Given the description of an element on the screen output the (x, y) to click on. 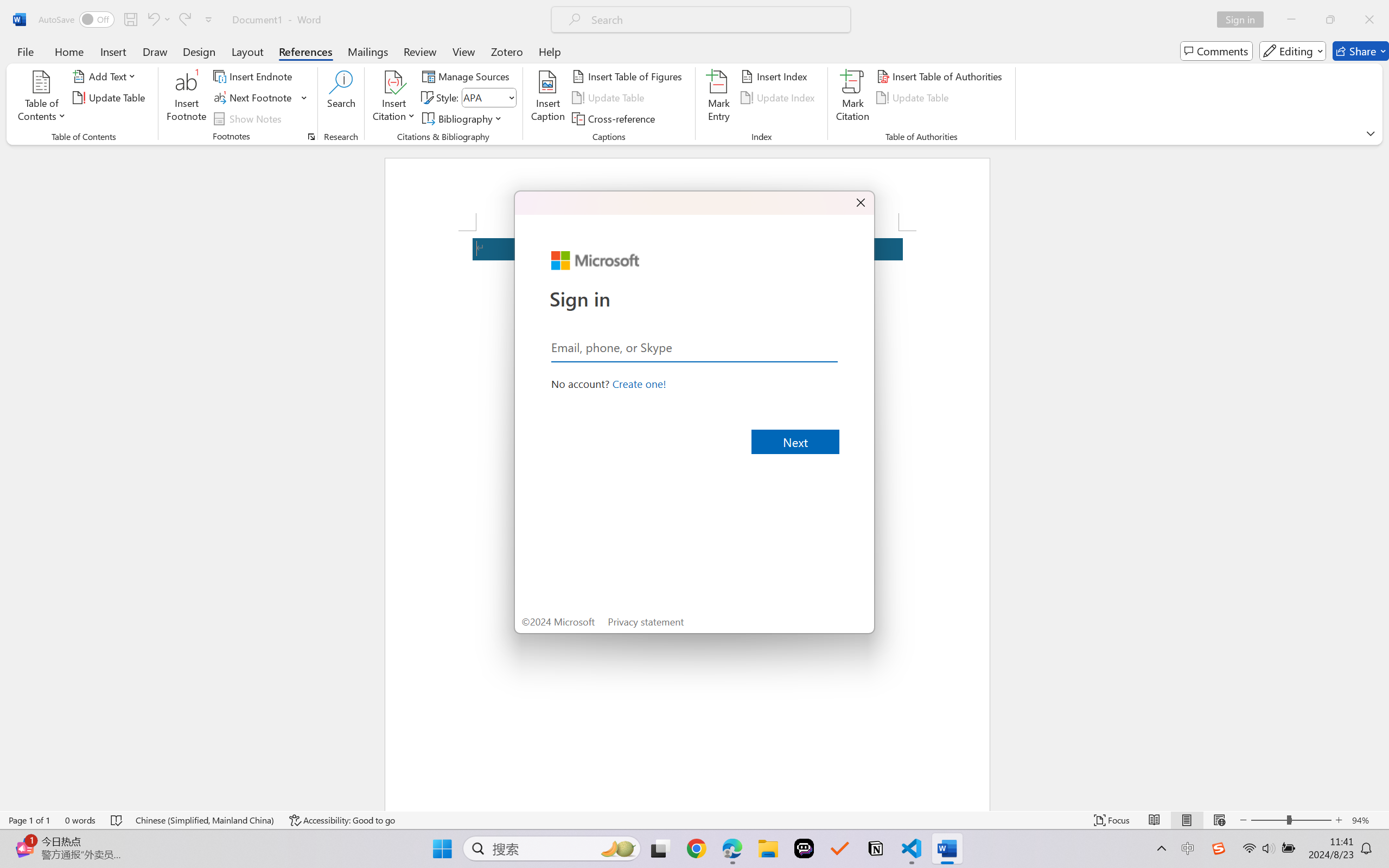
Redo Apply Quick Style (184, 19)
Undo Apply Quick Style Set (152, 19)
Next Footnote (253, 97)
Mark Citation... (852, 97)
